Given the description of an element on the screen output the (x, y) to click on. 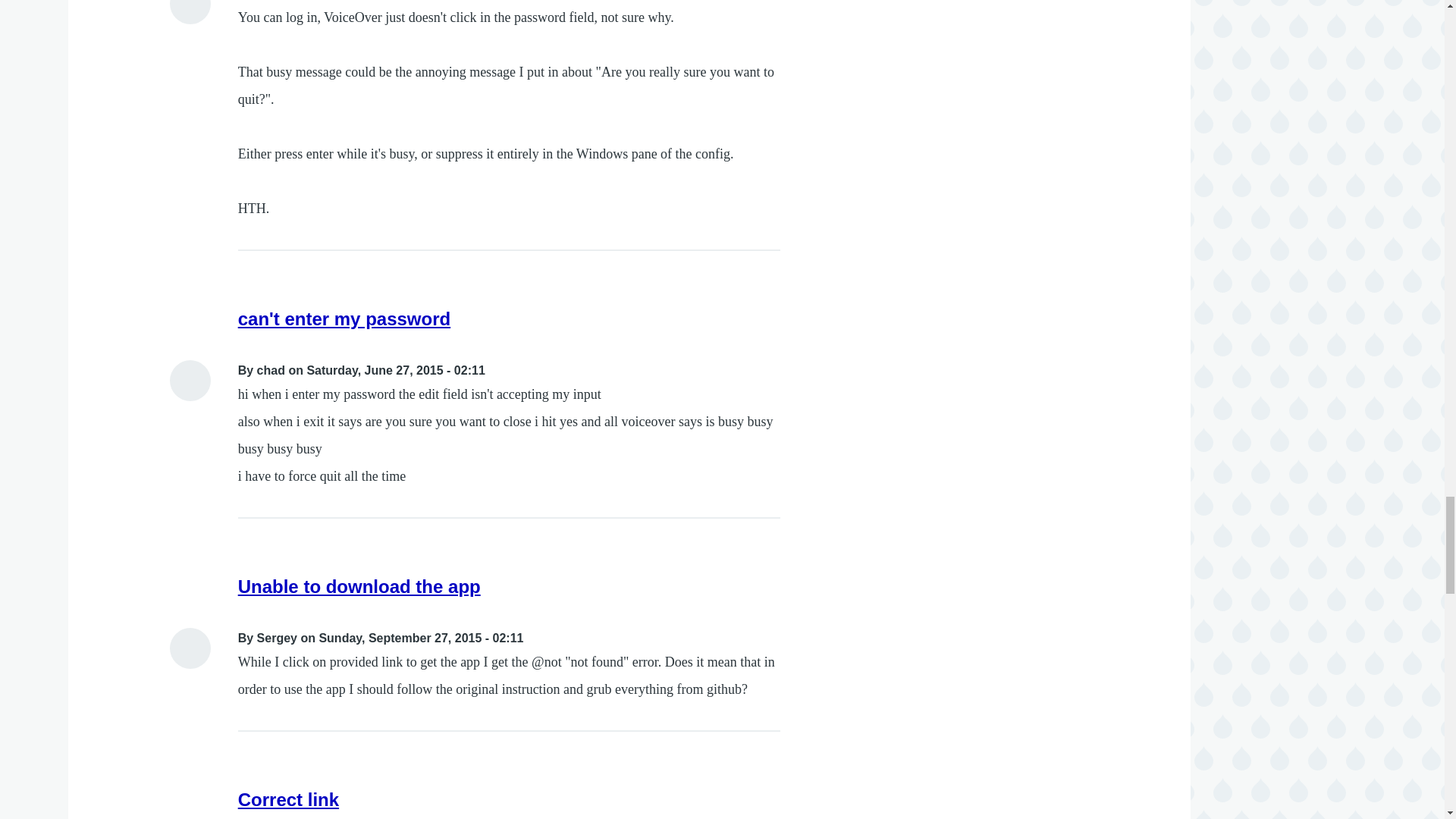
Unable to download the app (359, 586)
can't enter my password (343, 318)
Correct link (288, 799)
